Given the description of an element on the screen output the (x, y) to click on. 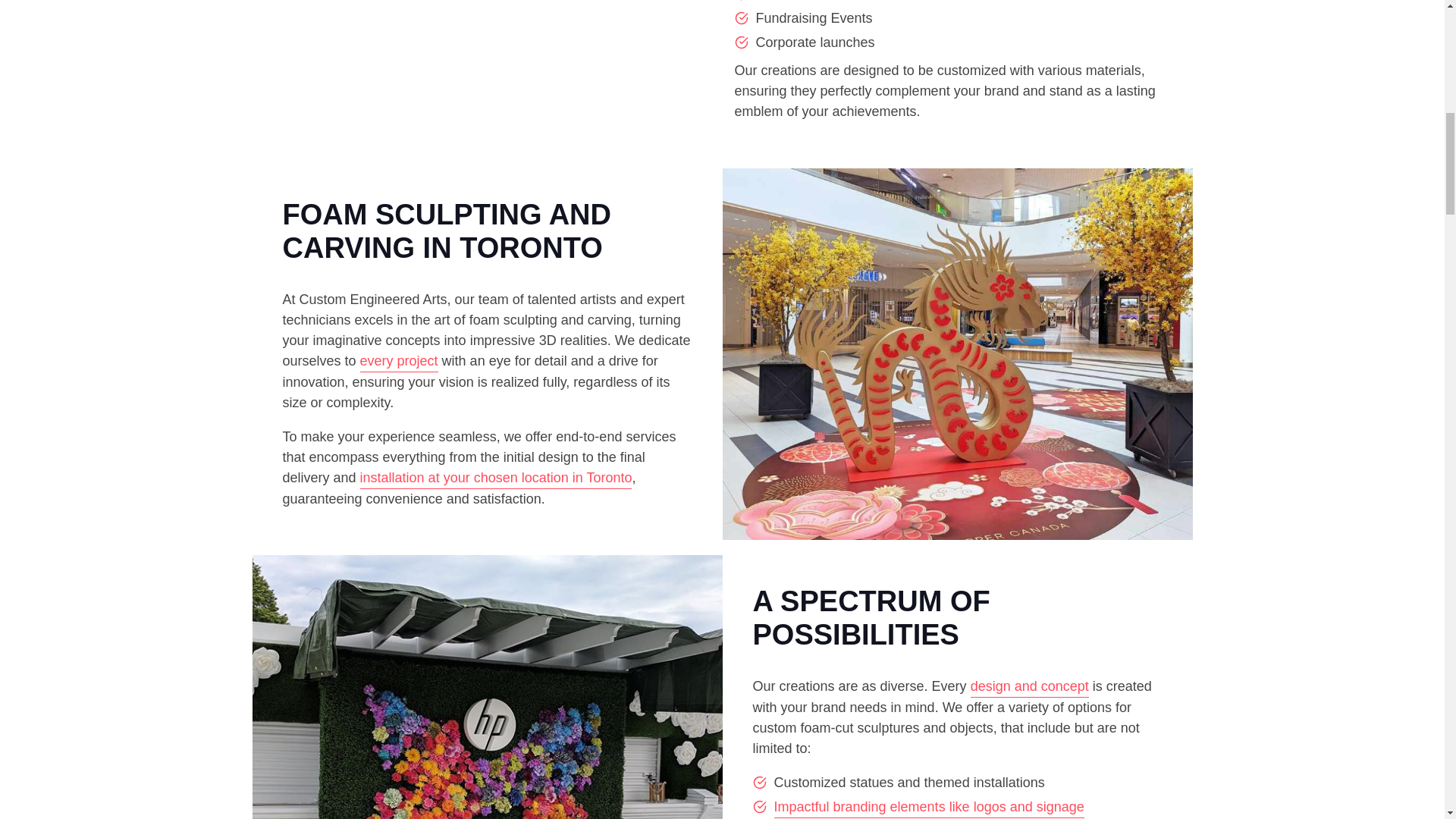
design and concept (1030, 686)
Impactful branding elements like logos and signage (928, 807)
every project (398, 361)
installation at your chosen location in Toronto (495, 477)
